Given the description of an element on the screen output the (x, y) to click on. 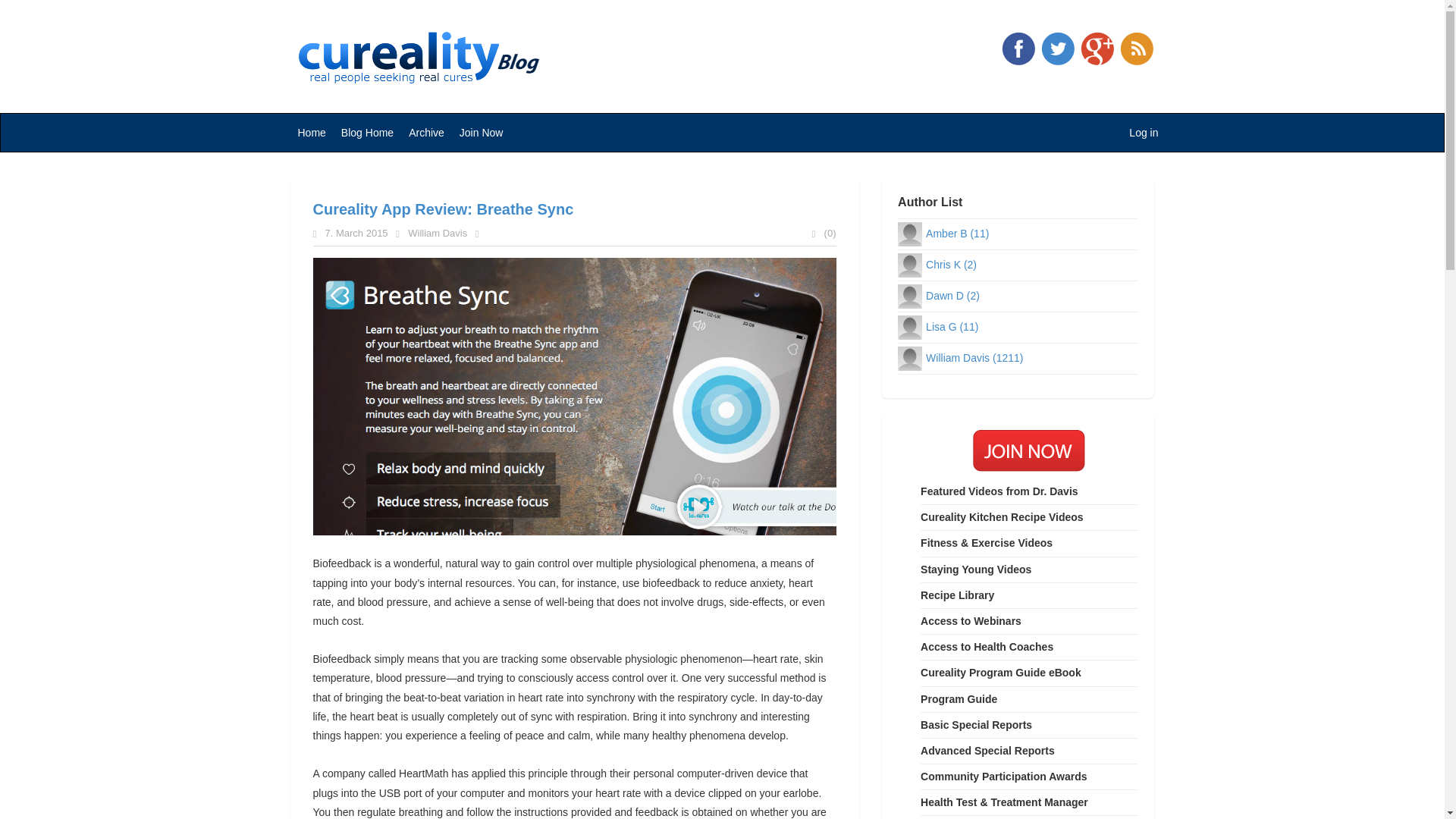
William Davis (437, 233)
Home (311, 132)
Join Now (481, 132)
Author: Amber B (957, 233)
Log in (1143, 132)
Author: Lisa G (952, 326)
Cureality App Review: Breathe Sync (443, 208)
Archive (426, 132)
Author: Dawn D (952, 295)
Author: Chris K (951, 264)
Blog Home (367, 132)
Author: William Davis (974, 357)
